Given the description of an element on the screen output the (x, y) to click on. 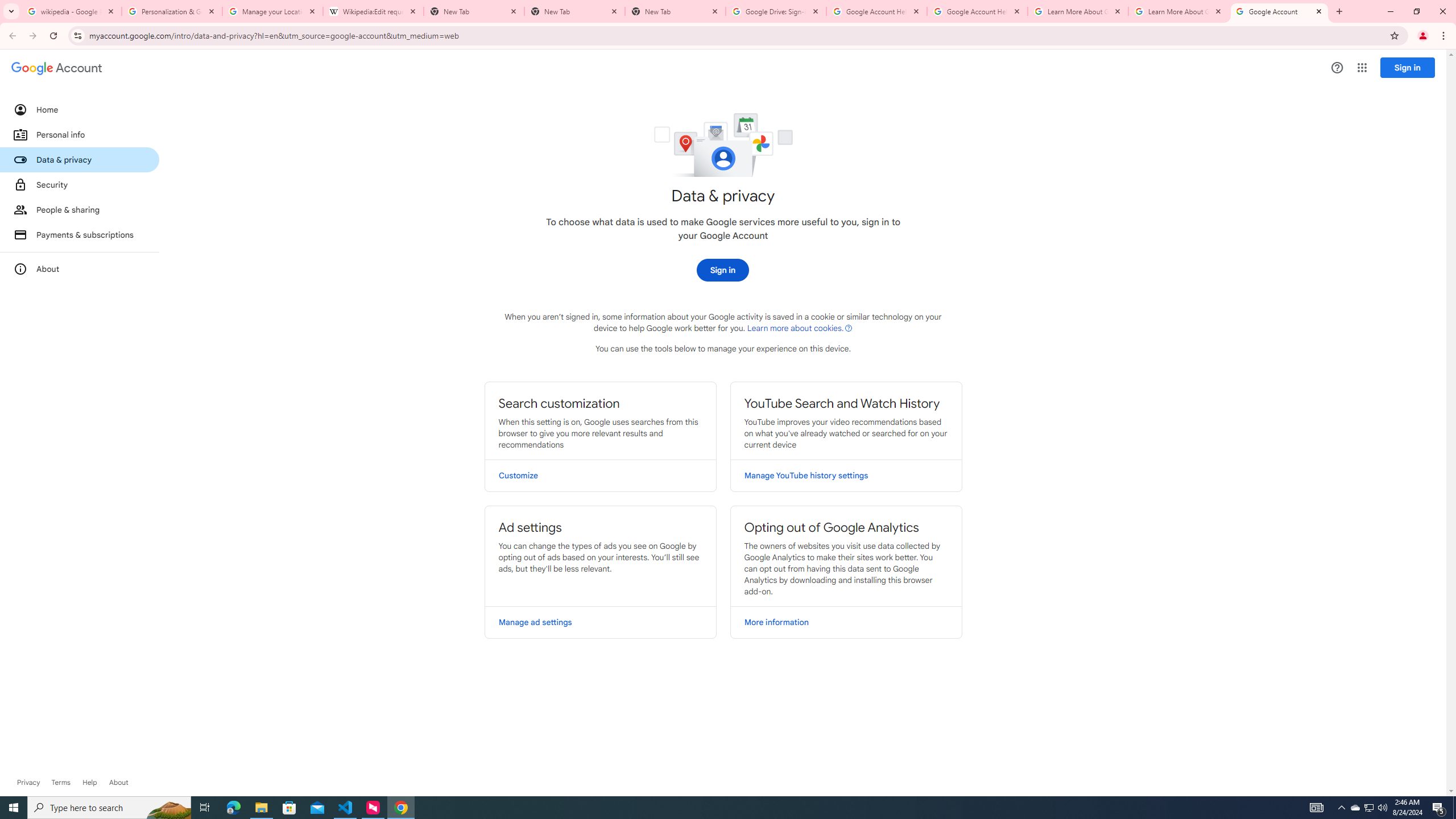
Manage YouTube history settings (846, 475)
Google Account settings (56, 68)
Home (79, 109)
More information about the Google Account (79, 268)
People & sharing (79, 209)
Payments & subscriptions (79, 234)
